Given the description of an element on the screen output the (x, y) to click on. 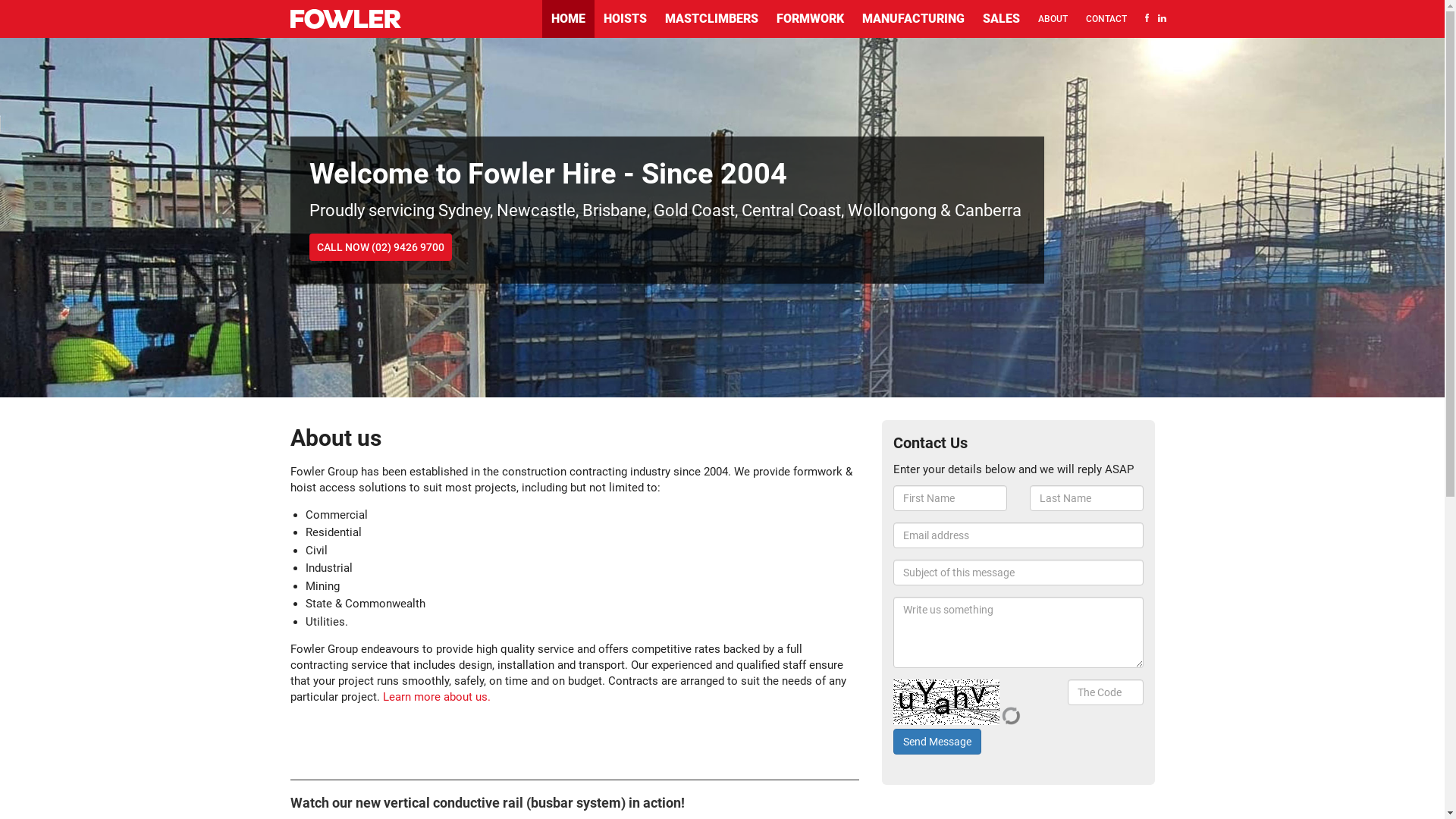
ABOUT Element type: text (1052, 18)
CONTACT Element type: text (1105, 18)
SALES Element type: text (1001, 18)
MANUFACTURING Element type: text (912, 18)
MASTCLIMBERS Element type: text (710, 18)
FORMWORK Element type: text (810, 18)
Learn more about us. Element type: text (435, 696)
CALL NOW (02) 9426 9700 Element type: text (380, 246)
HOME Element type: text (567, 18)
HOISTS Element type: text (624, 18)
